Given the description of an element on the screen output the (x, y) to click on. 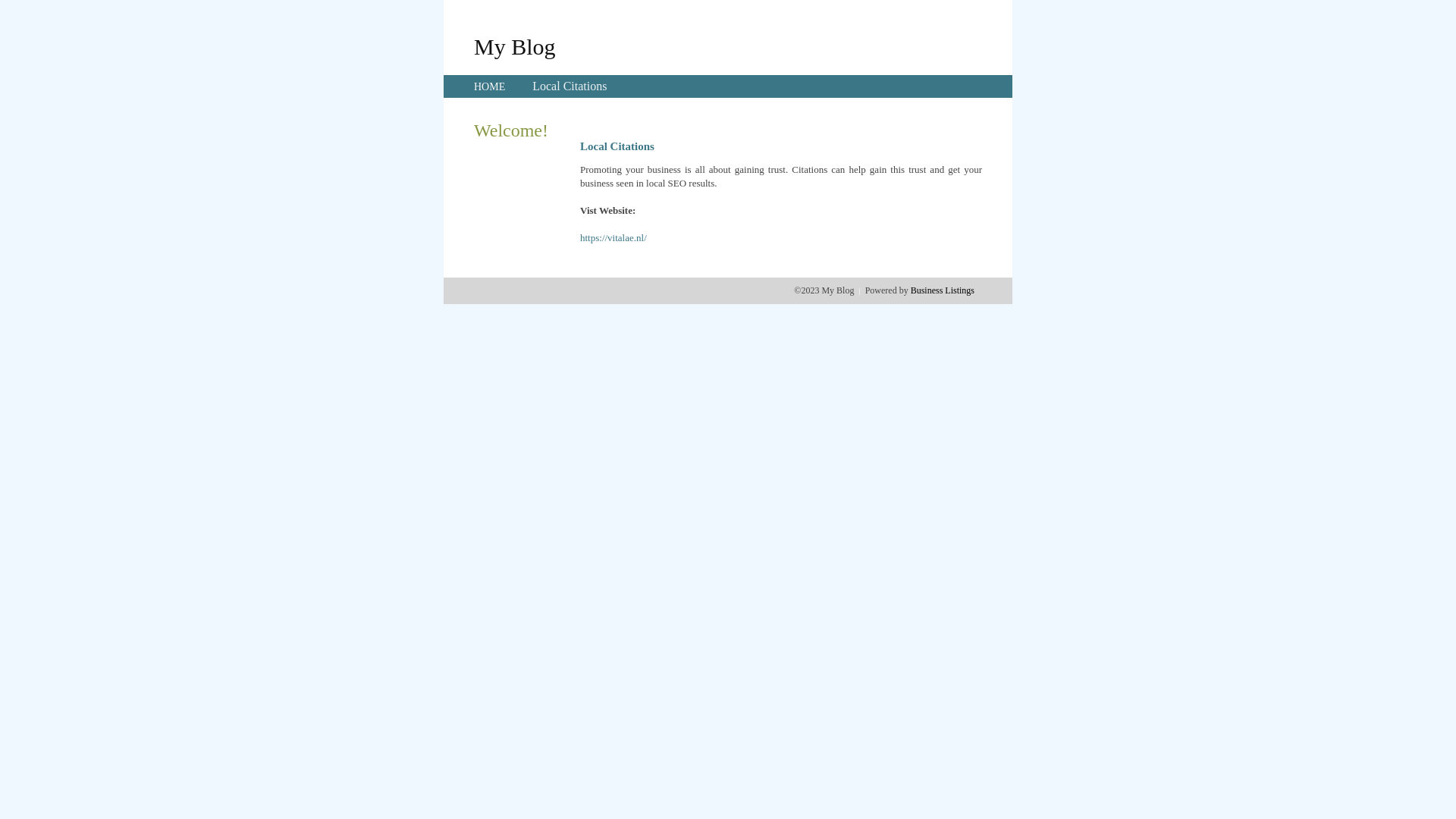
HOME Element type: text (489, 86)
https://vitalae.nl/ Element type: text (613, 237)
Local Citations Element type: text (569, 85)
Business Listings Element type: text (942, 290)
My Blog Element type: text (514, 46)
